Given the description of an element on the screen output the (x, y) to click on. 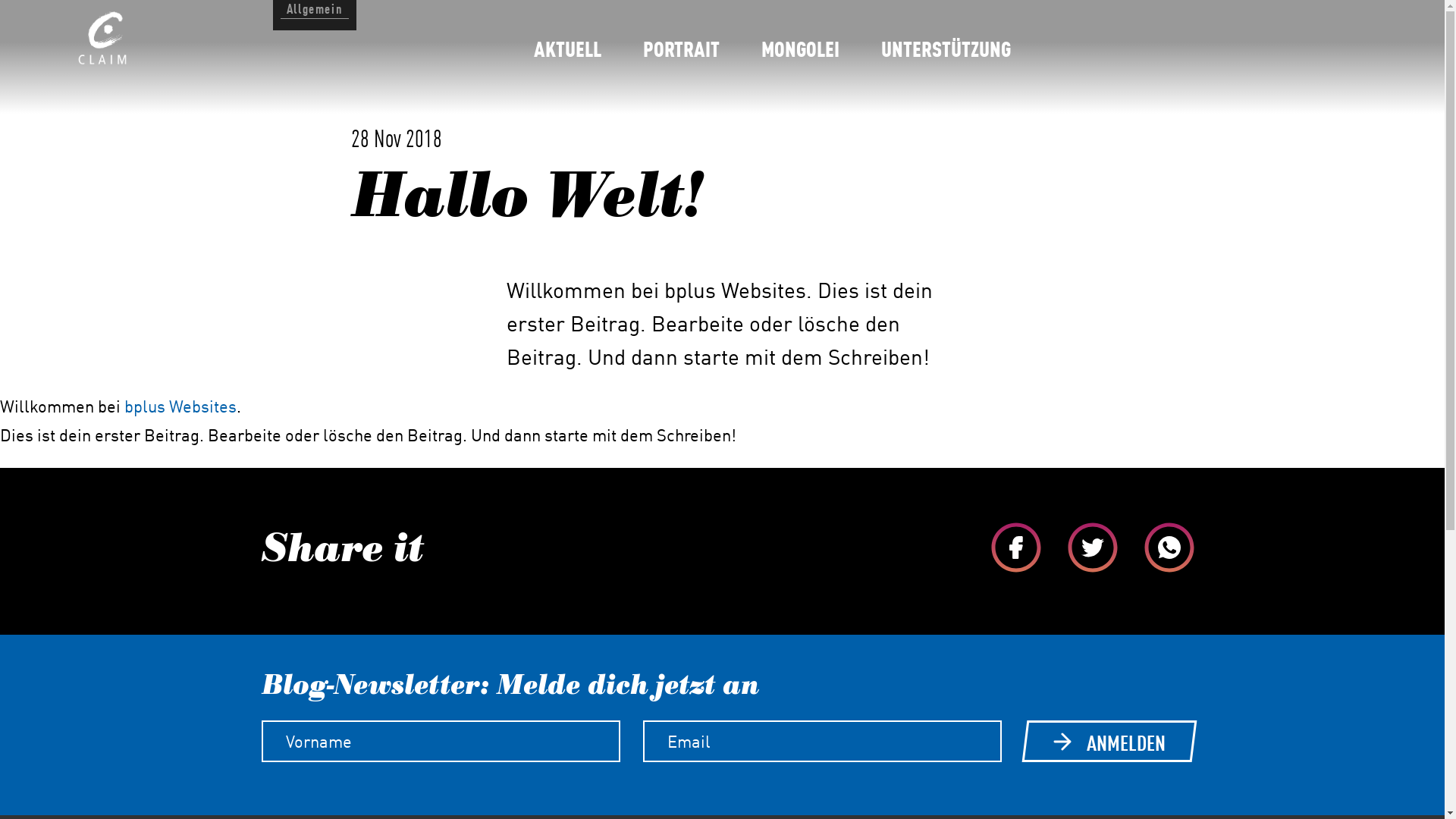
ANMELDEN Element type: text (1107, 741)
bplus Websites Element type: text (180, 405)
